Given the description of an element on the screen output the (x, y) to click on. 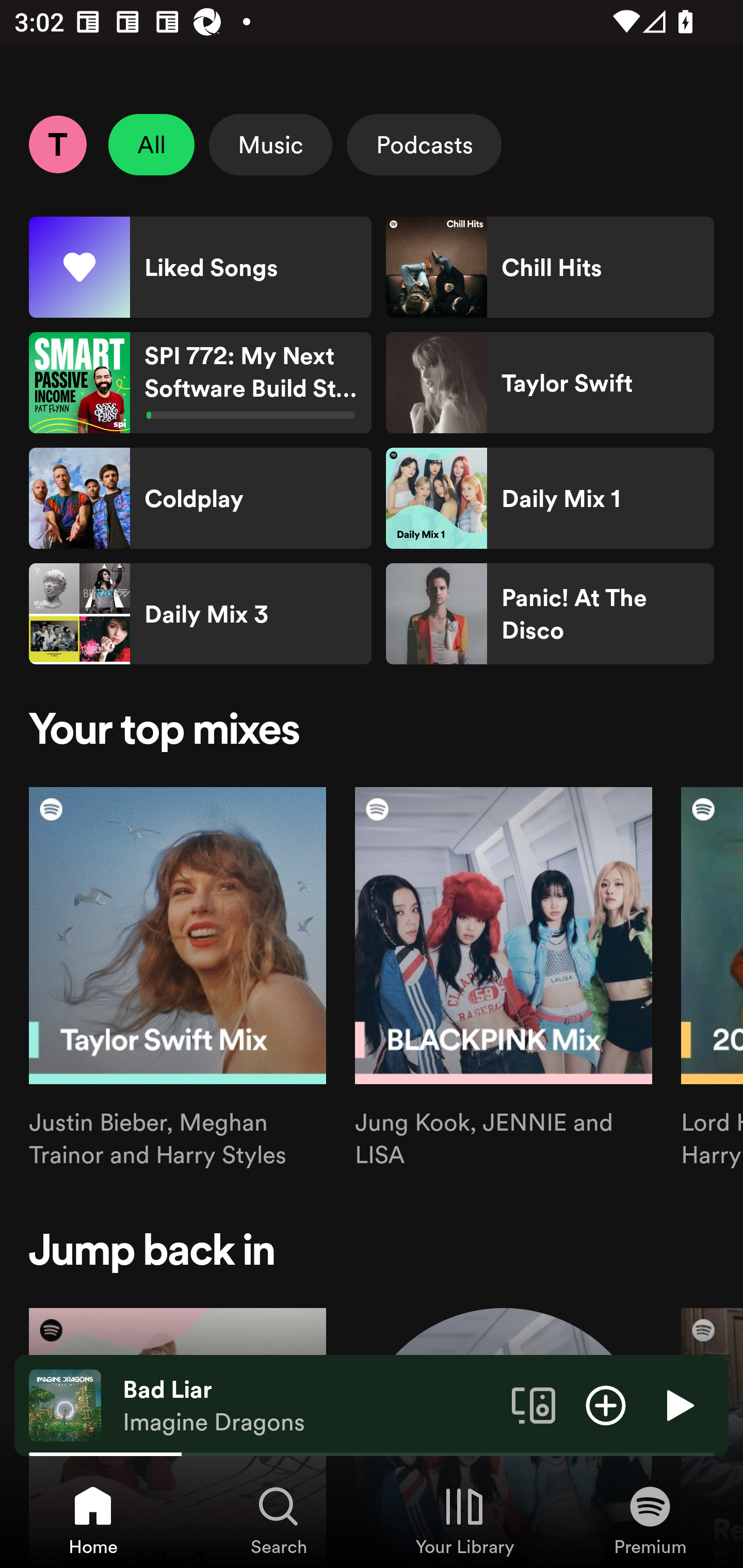
Profile (57, 144)
All Unselect All (151, 144)
Music Select Music (270, 144)
Podcasts Select Podcasts (423, 144)
Liked Songs Shortcut Liked Songs (199, 267)
Chill Hits Shortcut Chill Hits (549, 267)
Taylor Swift Shortcut Taylor Swift (549, 382)
Coldplay Shortcut Coldplay (199, 498)
Daily Mix 1 Shortcut Daily Mix 1 (549, 498)
Daily Mix 3 Shortcut Daily Mix 3 (199, 613)
Panic! At The Disco Shortcut Panic! At The Disco (549, 613)
Bad Liar Imagine Dragons (309, 1405)
The cover art of the currently playing track (64, 1404)
Connect to a device. Opens the devices menu (533, 1404)
Add item (605, 1404)
Play (677, 1404)
